Given the description of an element on the screen output the (x, y) to click on. 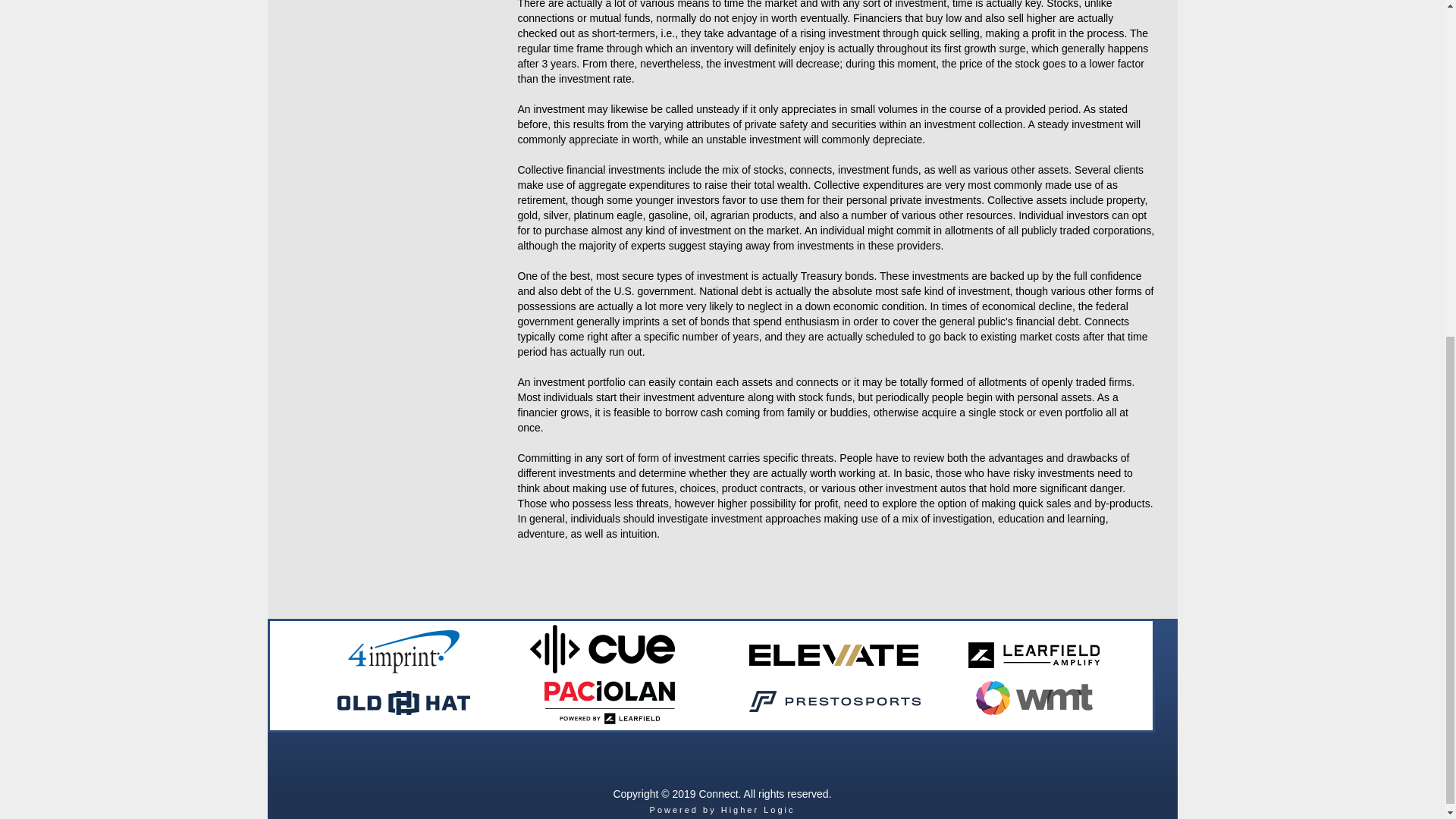
Powered by Higher Logic (721, 809)
